Given the description of an element on the screen output the (x, y) to click on. 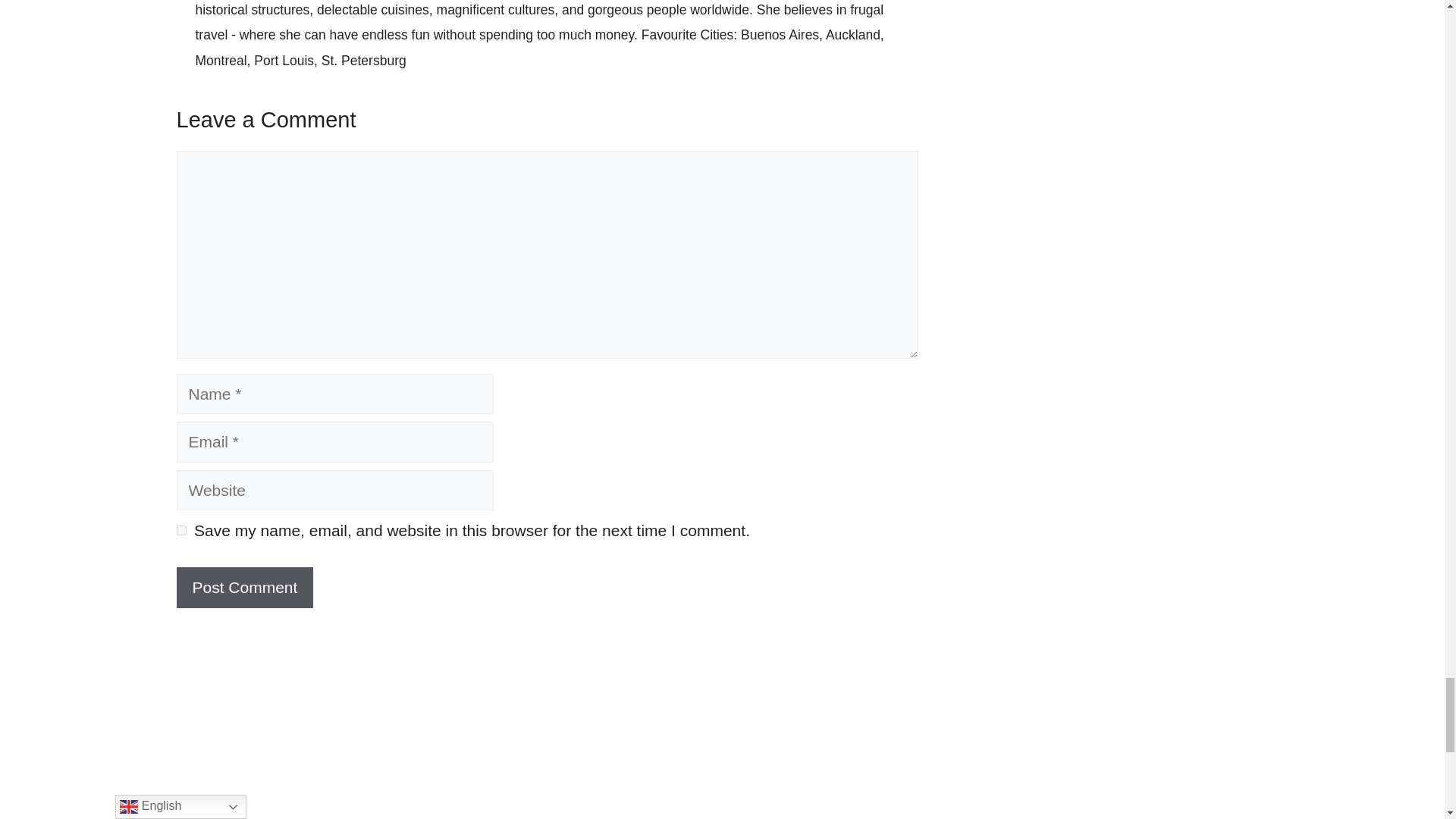
yes (181, 530)
Post Comment (244, 587)
